Given the description of an element on the screen output the (x, y) to click on. 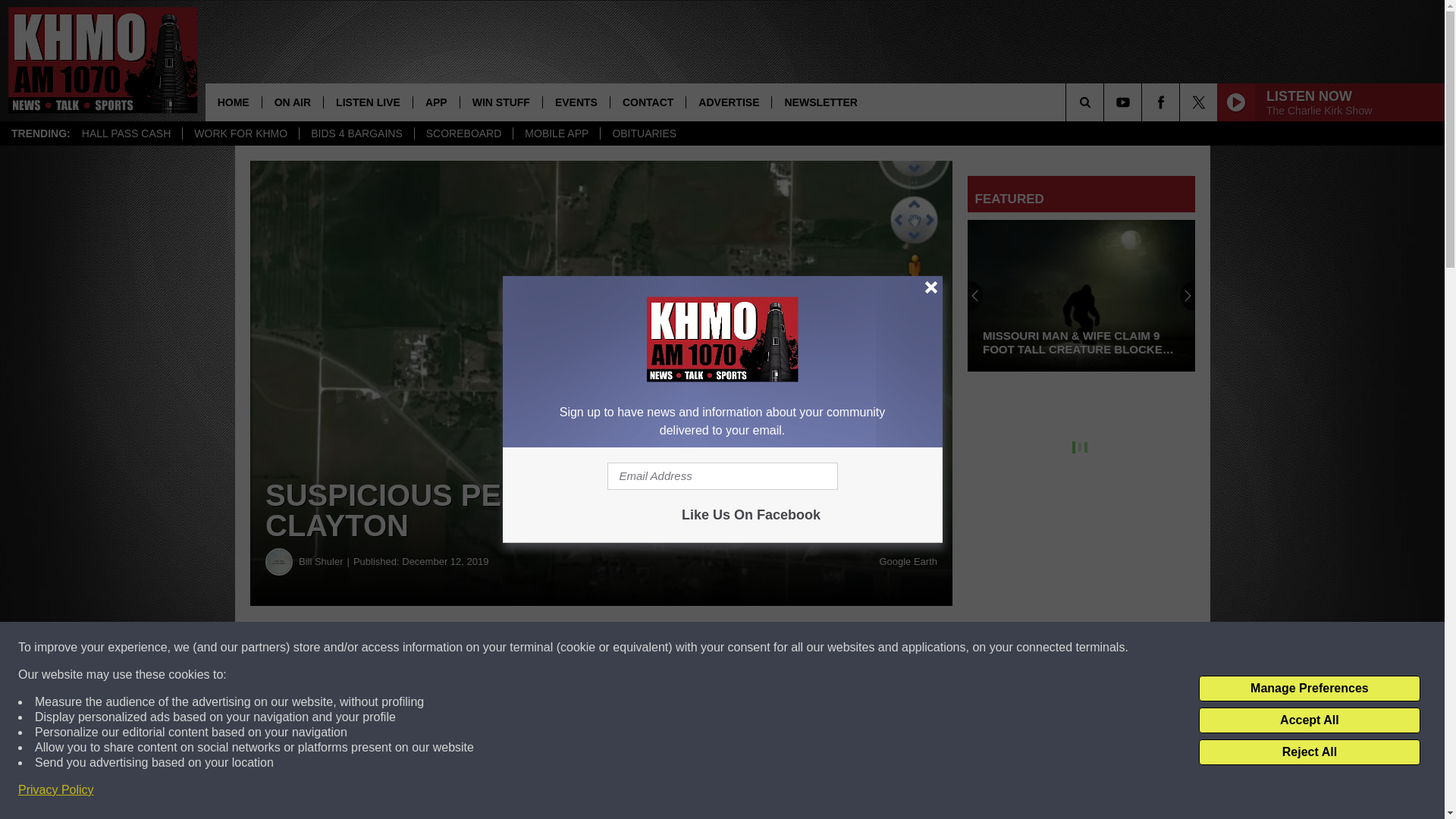
SEARCH (1106, 102)
WIN STUFF (500, 102)
Manage Preferences (1309, 688)
MOBILE APP (555, 133)
BIDS 4 BARGAINS (355, 133)
CONTACT (647, 102)
Email Address (722, 475)
APP (436, 102)
WORK FOR KHMO (240, 133)
HALL PASS CASH (126, 133)
Accept All (1309, 720)
ON AIR (292, 102)
Share on Twitter (741, 647)
LISTEN LIVE (367, 102)
Privacy Policy (55, 789)
